Given the description of an element on the screen output the (x, y) to click on. 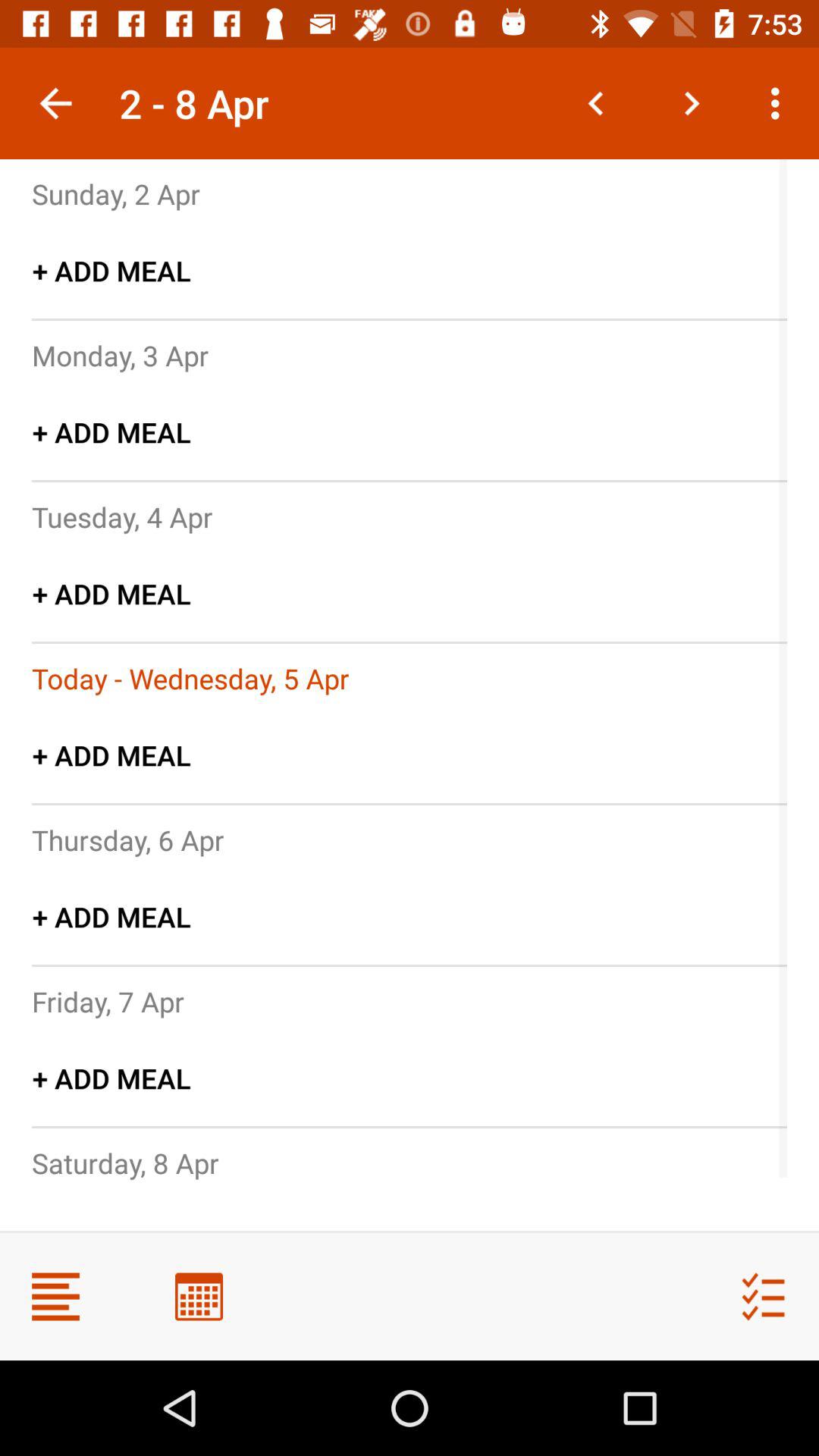
side menu button (55, 1296)
